Given the description of an element on the screen output the (x, y) to click on. 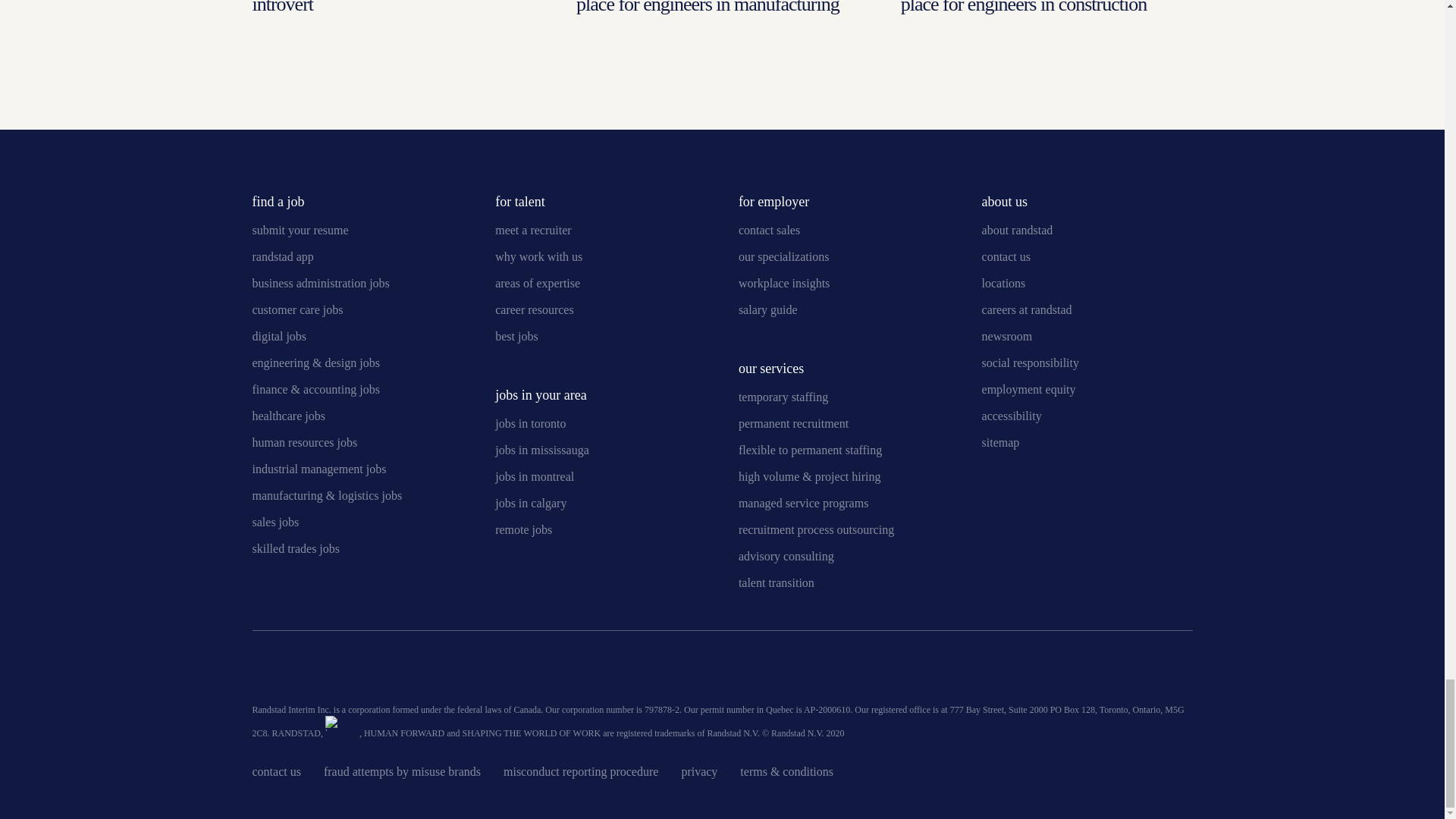
view our Facebook page (338, 671)
view our instagram page (414, 671)
view our Twitter page (301, 671)
view our Youtube channel (376, 671)
view our LinkedIn profile (263, 671)
